Given the description of an element on the screen output the (x, y) to click on. 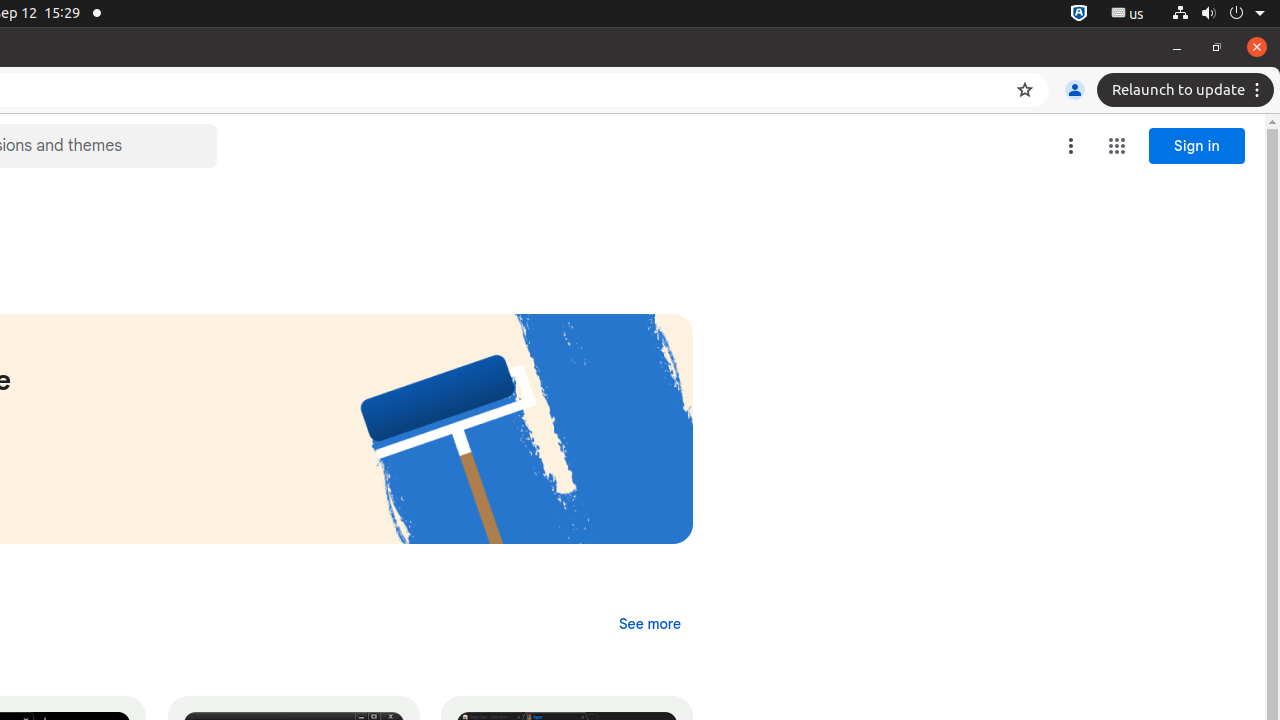
See more of the "Dark & black themes" collection Element type: link (649, 624)
:1.21/StatusNotifierItem Element type: menu (1127, 13)
System Element type: menu (1218, 13)
Sign in Element type: link (1197, 146)
:1.72/StatusNotifierItem Element type: menu (1079, 13)
